Given the description of an element on the screen output the (x, y) to click on. 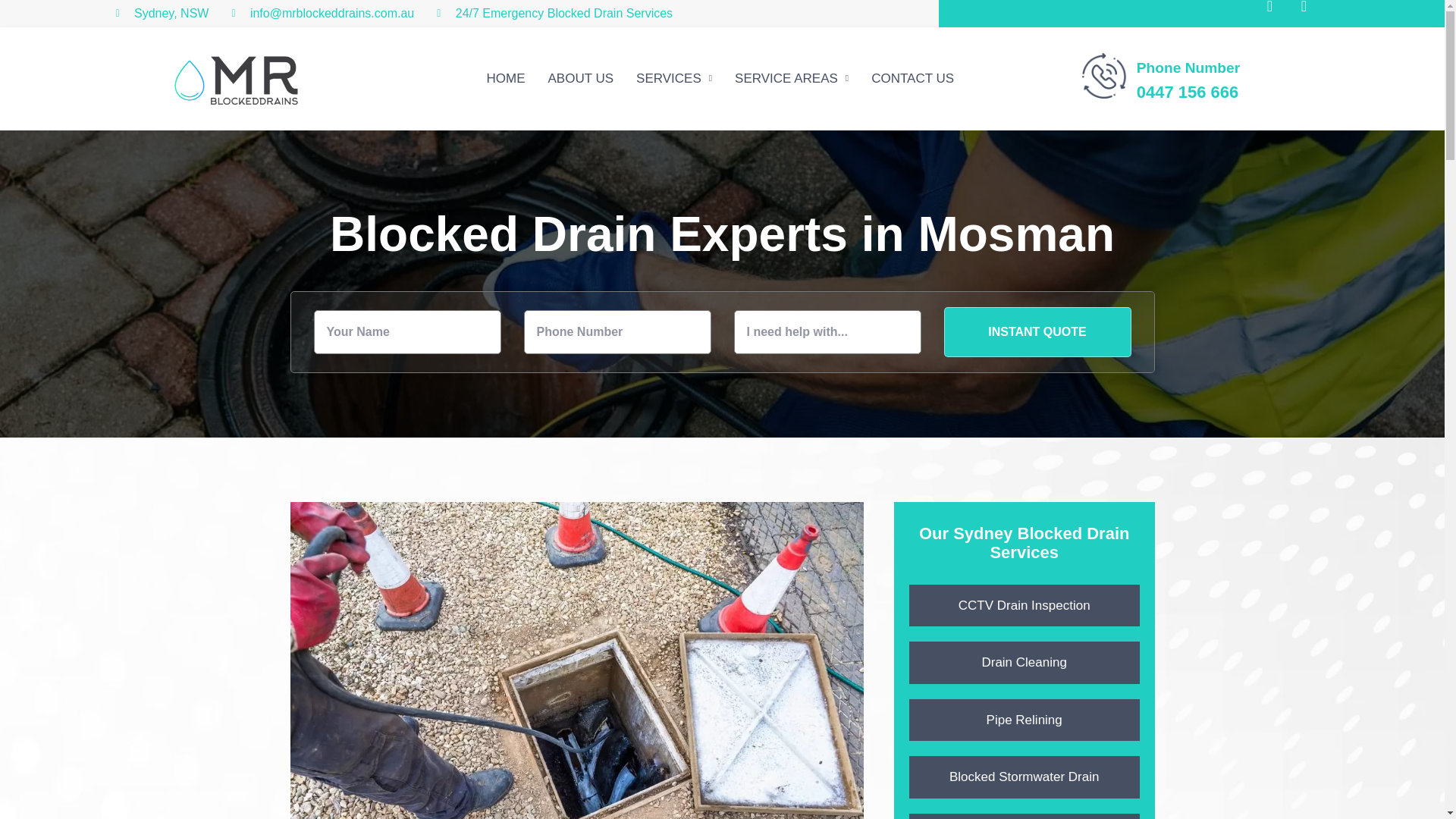
Sydney, NSW (161, 13)
SERVICES (673, 78)
SERVICE AREAS (791, 78)
ABOUT US (579, 78)
CONTACT US (911, 78)
HOME (505, 78)
